Given the description of an element on the screen output the (x, y) to click on. 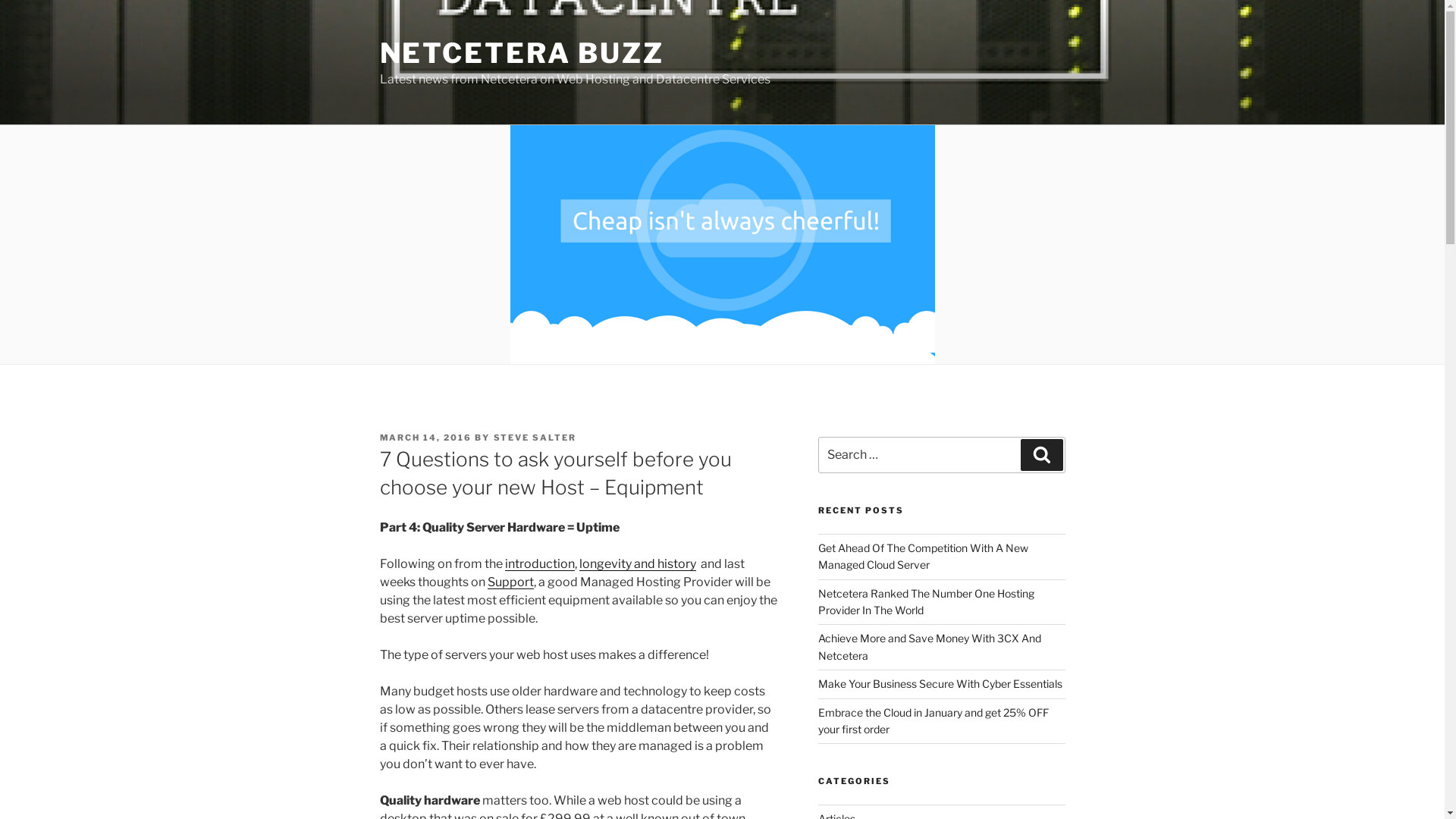
STEVE SALTER Element type: text (534, 437)
NETCETERA BUZZ Element type: text (521, 52)
MARCH 14, 2016 Element type: text (425, 437)
Make Your Business Secure With Cyber Essentials Element type: text (940, 683)
introduction Element type: text (539, 563)
Achieve More and Save Money With 3CX And Netcetera Element type: text (929, 646)
Search Element type: text (1041, 454)
Support Element type: text (509, 581)
longevity and history Element type: text (637, 563)
Get Ahead Of The Competition With A New Managed Cloud Server Element type: text (923, 556)
